Given the description of an element on the screen output the (x, y) to click on. 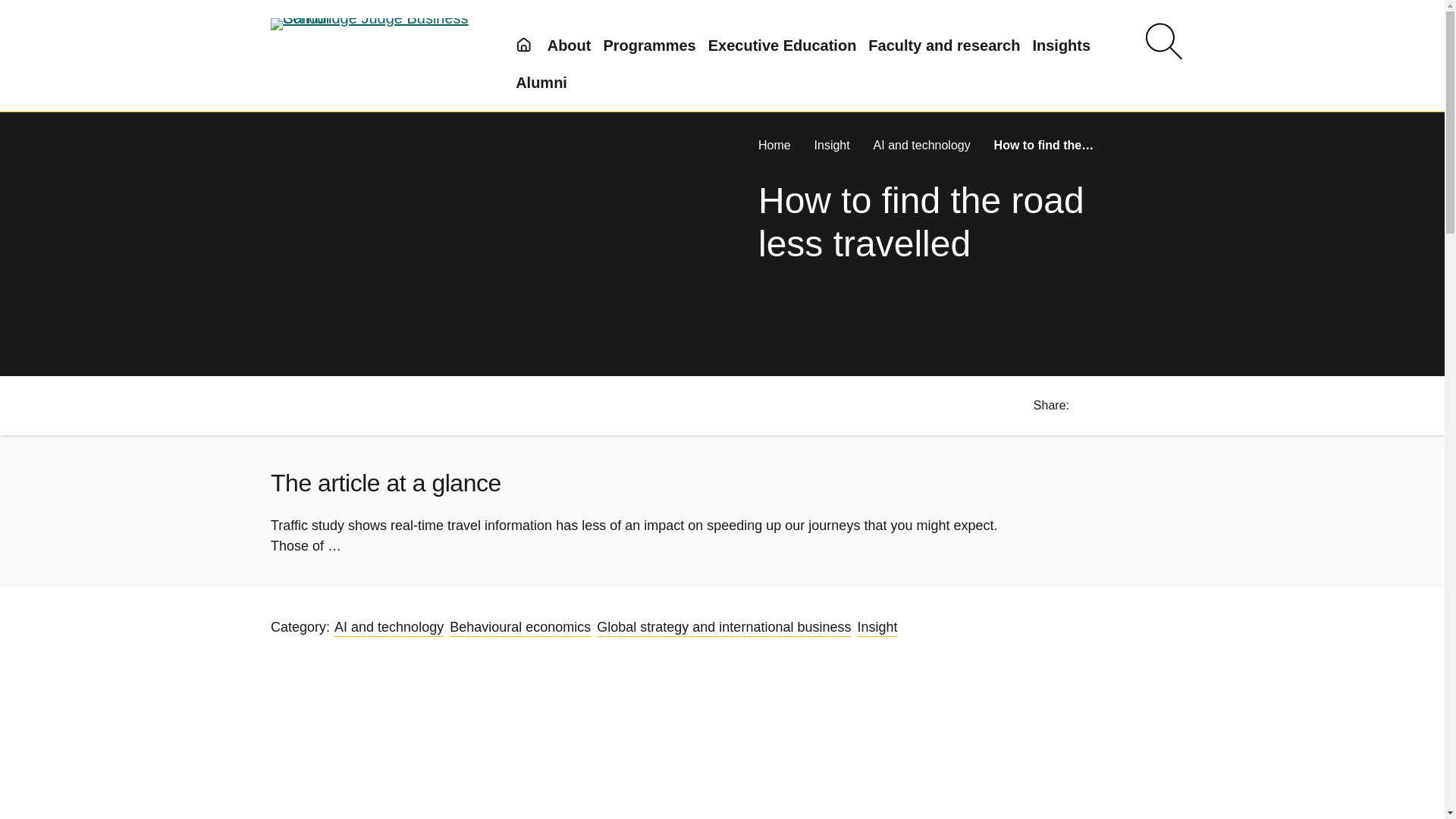
AI and technology (923, 144)
Home (775, 144)
Insight (833, 144)
About (568, 45)
